Given the description of an element on the screen output the (x, y) to click on. 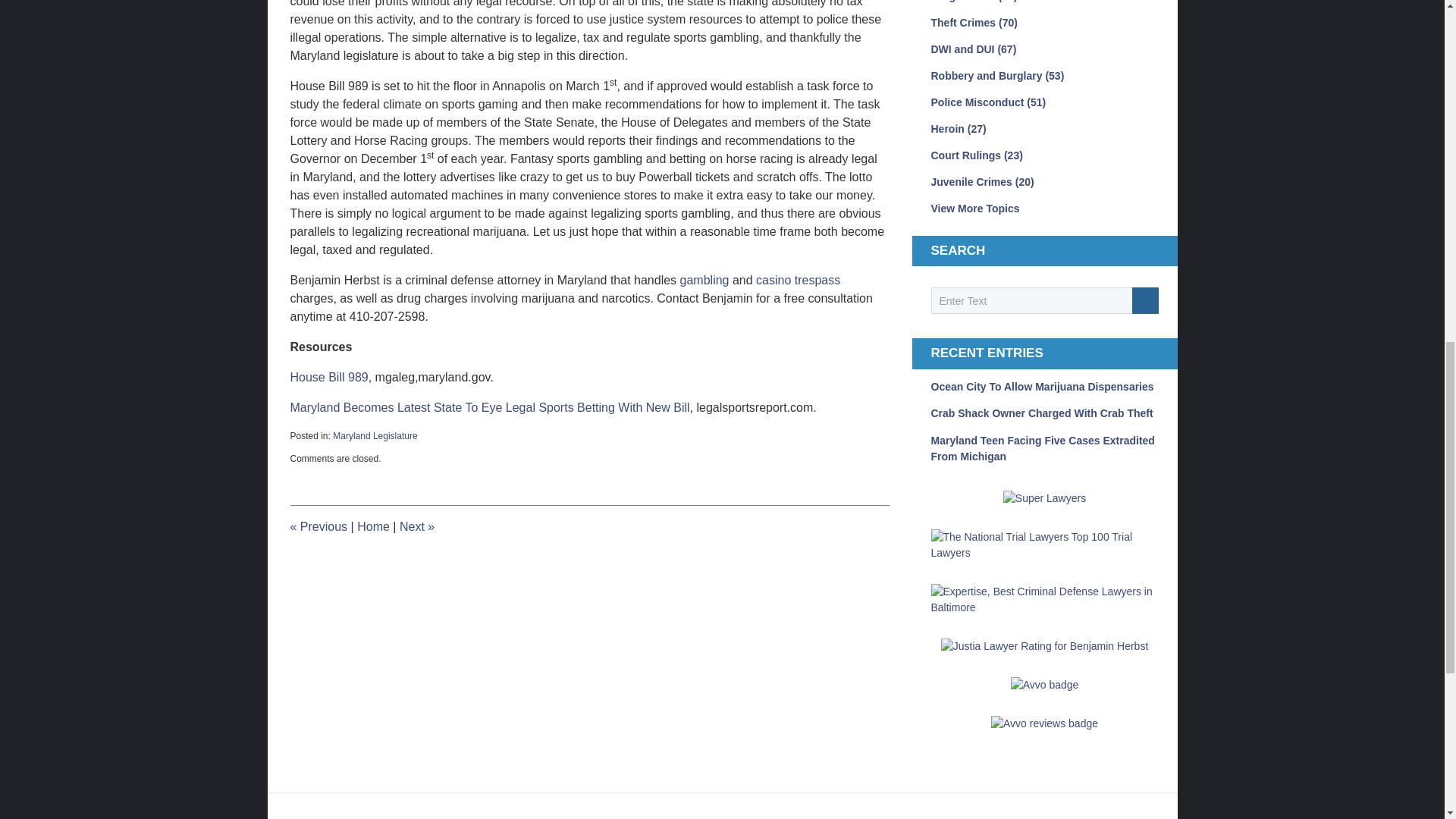
Home (373, 526)
gambling (704, 279)
House Bill 989 (328, 377)
Lawmakers Targeting Drug Overdoses (318, 526)
casino trespass (797, 279)
Maryland Legislature (374, 435)
View all posts in Maryland Legislature (374, 435)
Former Small Town Mayor Pleads Guilty To Theft (415, 526)
